Given the description of an element on the screen output the (x, y) to click on. 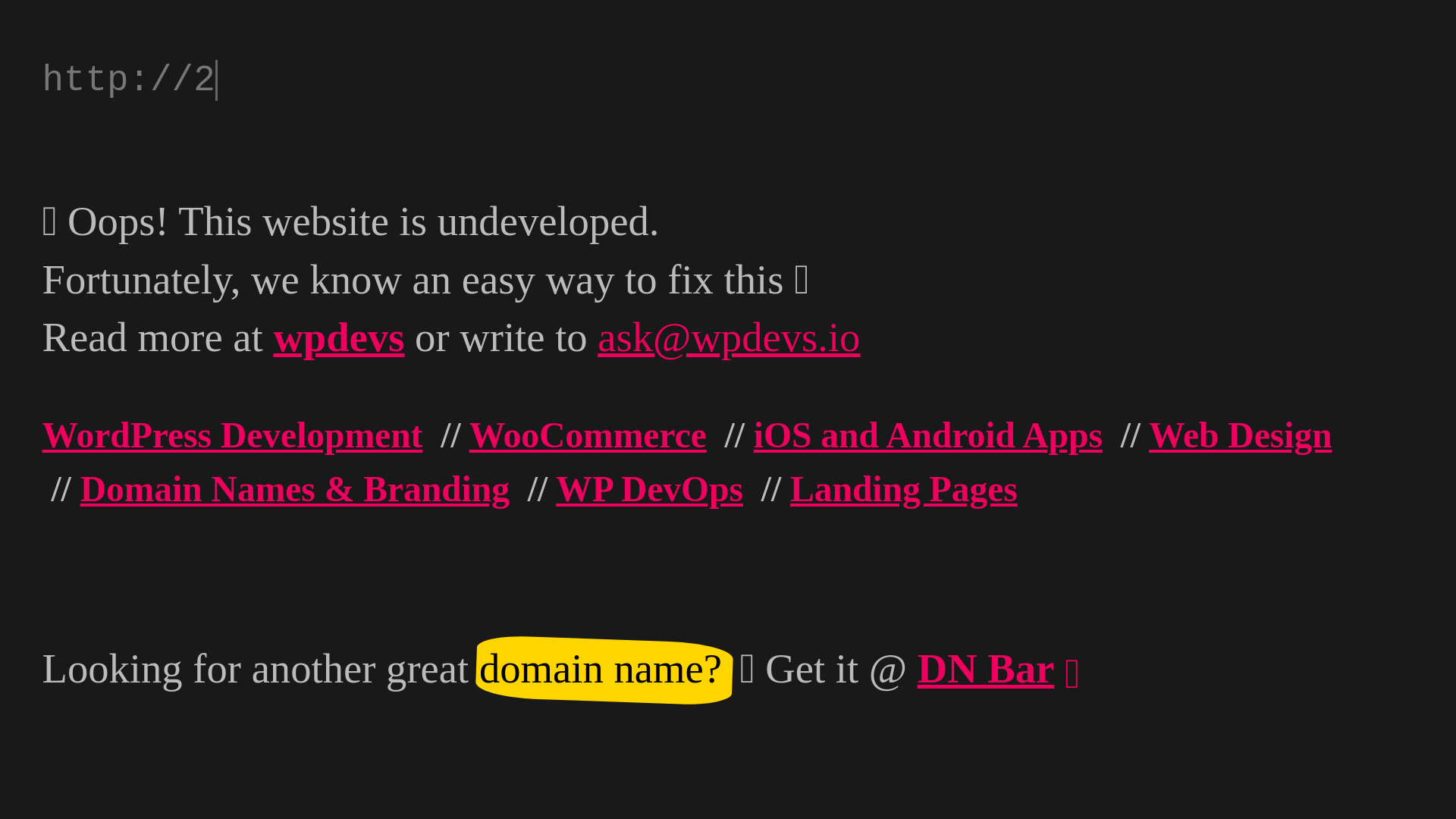
Web Design Element type: text (1240, 435)
Domain Names & Branding Element type: text (294, 488)
WordPress Development Element type: text (232, 435)
DN Bar Element type: text (985, 668)
wpdevs Element type: text (338, 336)
iOS and Android Apps Element type: text (927, 435)
WP DevOps Element type: text (649, 488)
ask@wpdevs.io Element type: text (728, 336)
Landing Pages Element type: text (903, 488)
WooCommerce Element type: text (587, 435)
